Given the description of an element on the screen output the (x, y) to click on. 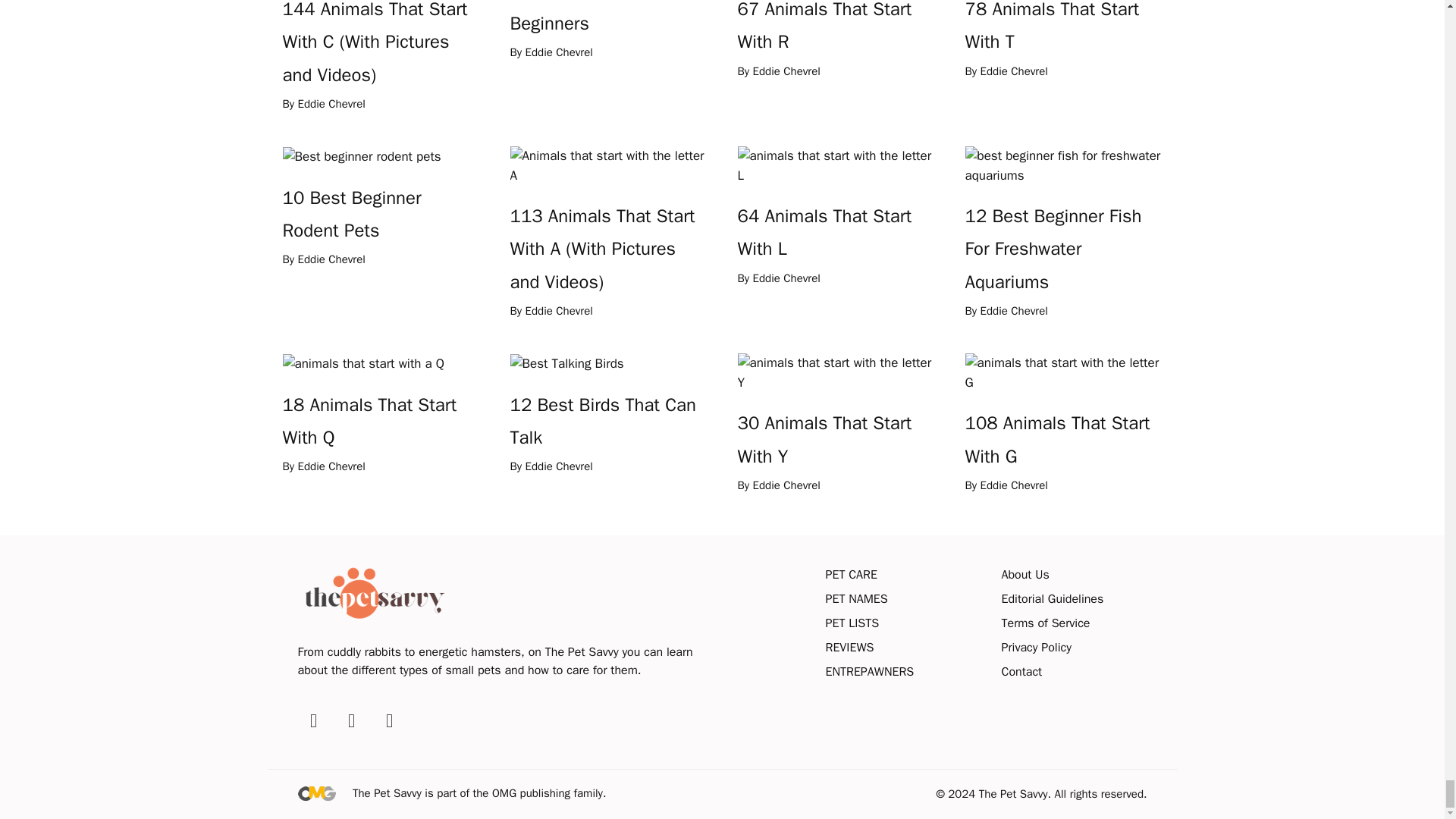
YouTube (388, 721)
Facebook (312, 721)
Pinterest (350, 721)
logo (372, 592)
